Given the description of an element on the screen output the (x, y) to click on. 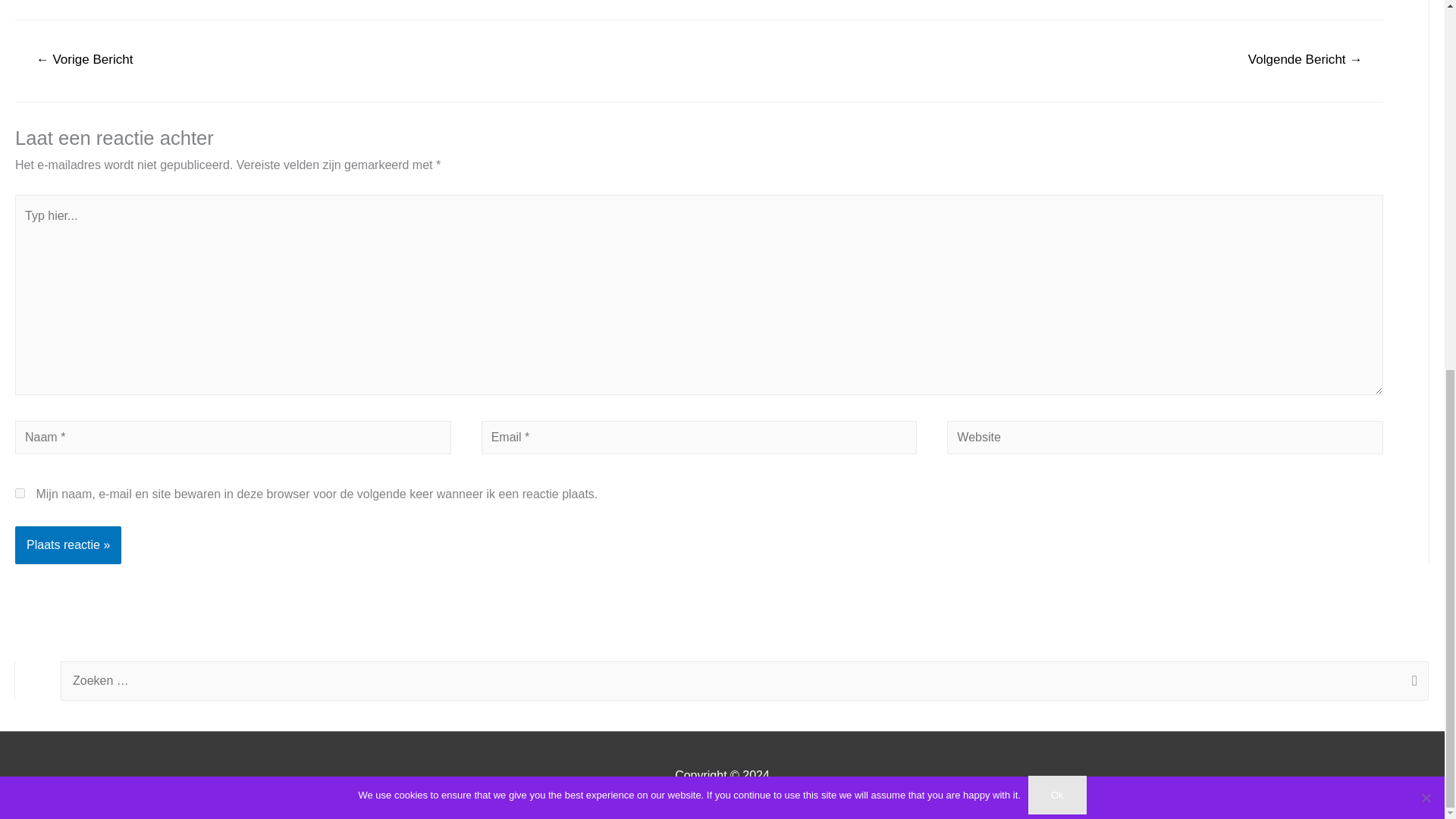
yes (19, 492)
Ok (1056, 124)
